Given the description of an element on the screen output the (x, y) to click on. 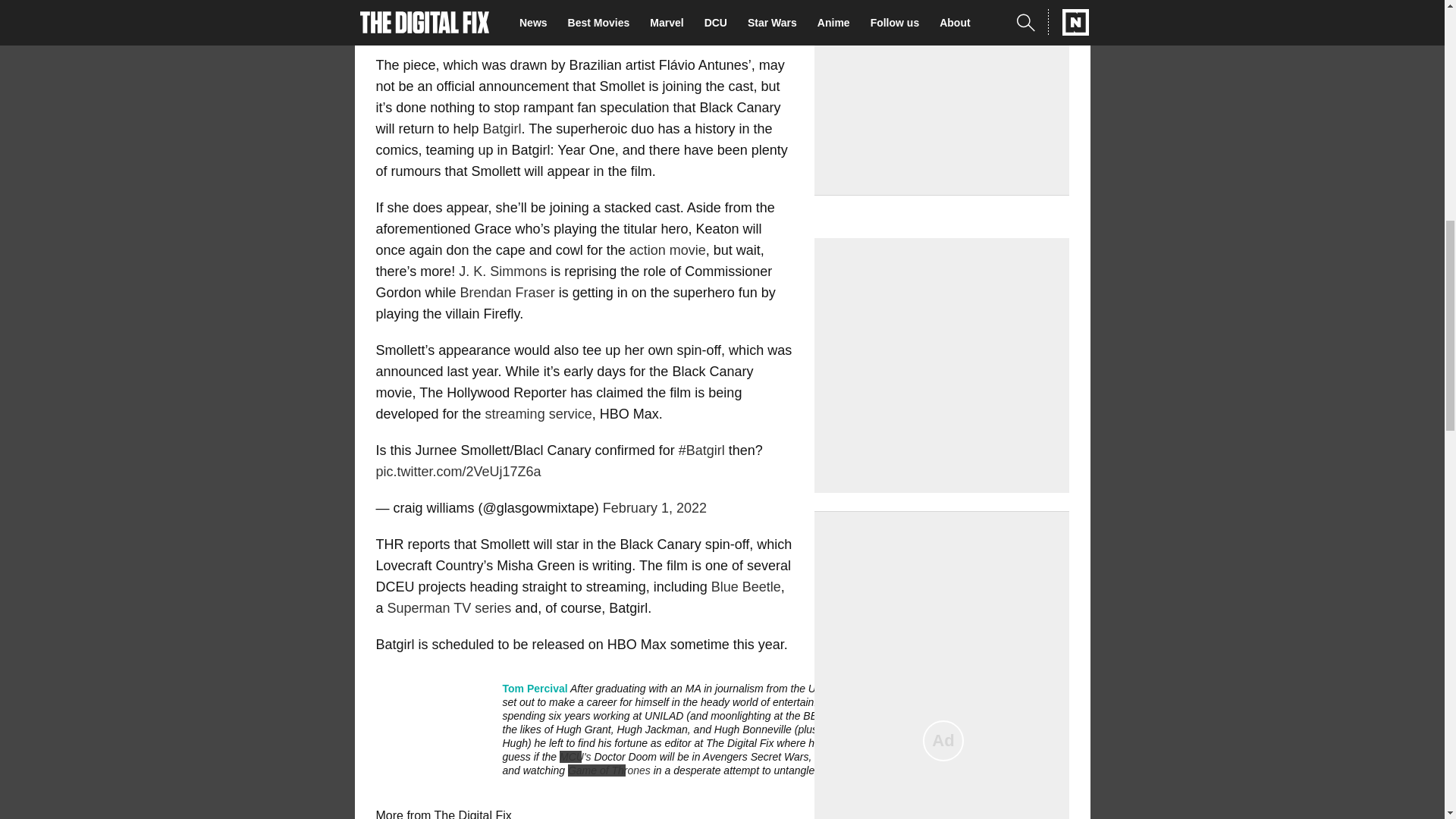
Batgirl (502, 128)
action movie (667, 249)
